Given the description of an element on the screen output the (x, y) to click on. 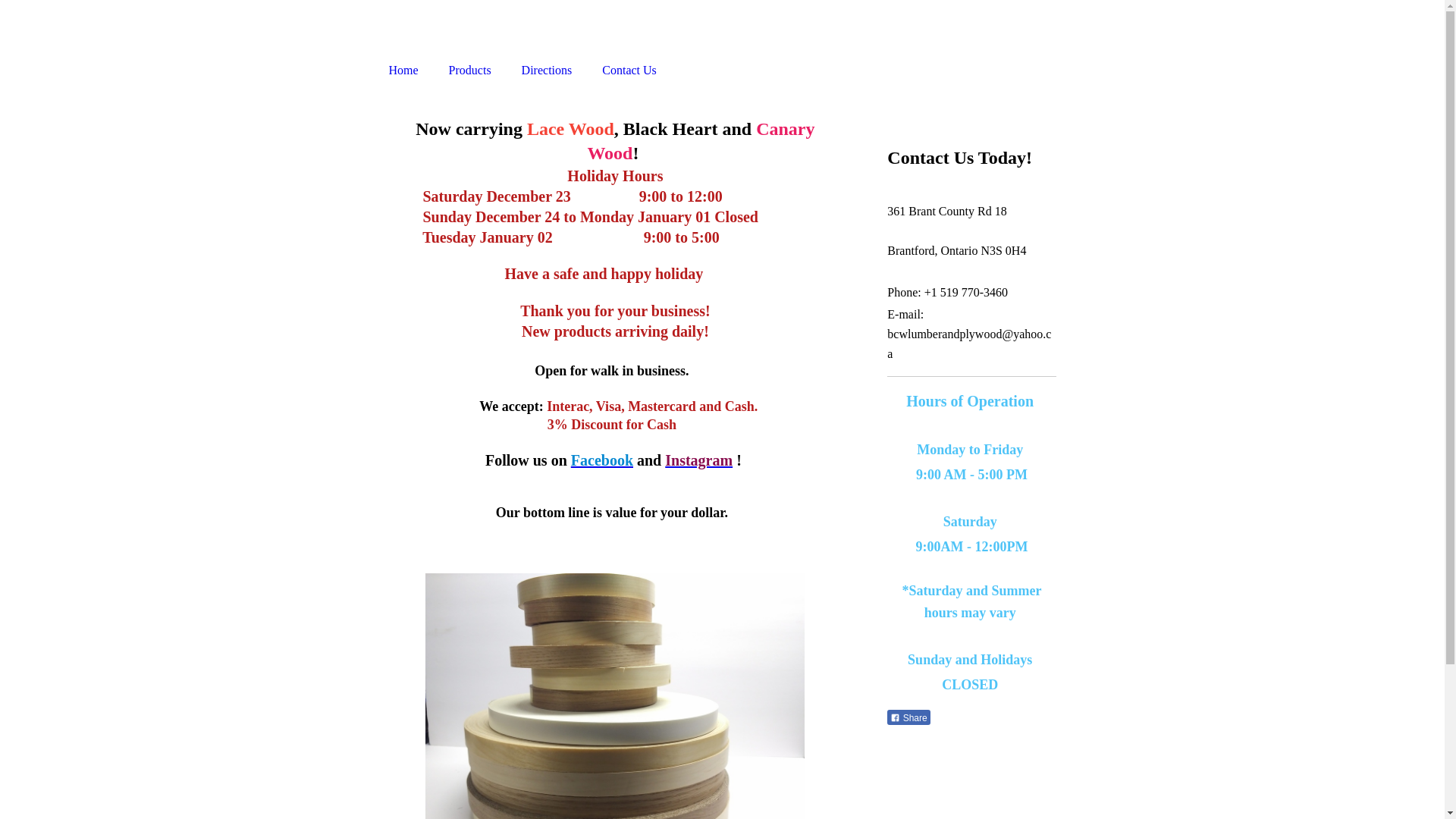
Contact Us Element type: text (628, 70)
Home Element type: text (403, 70)
Directions Element type: text (546, 70)
Products Element type: text (469, 70)
Share Element type: text (908, 716)
Facebook Element type: text (602, 459)
Instagram Element type: text (698, 459)
